Given the description of an element on the screen output the (x, y) to click on. 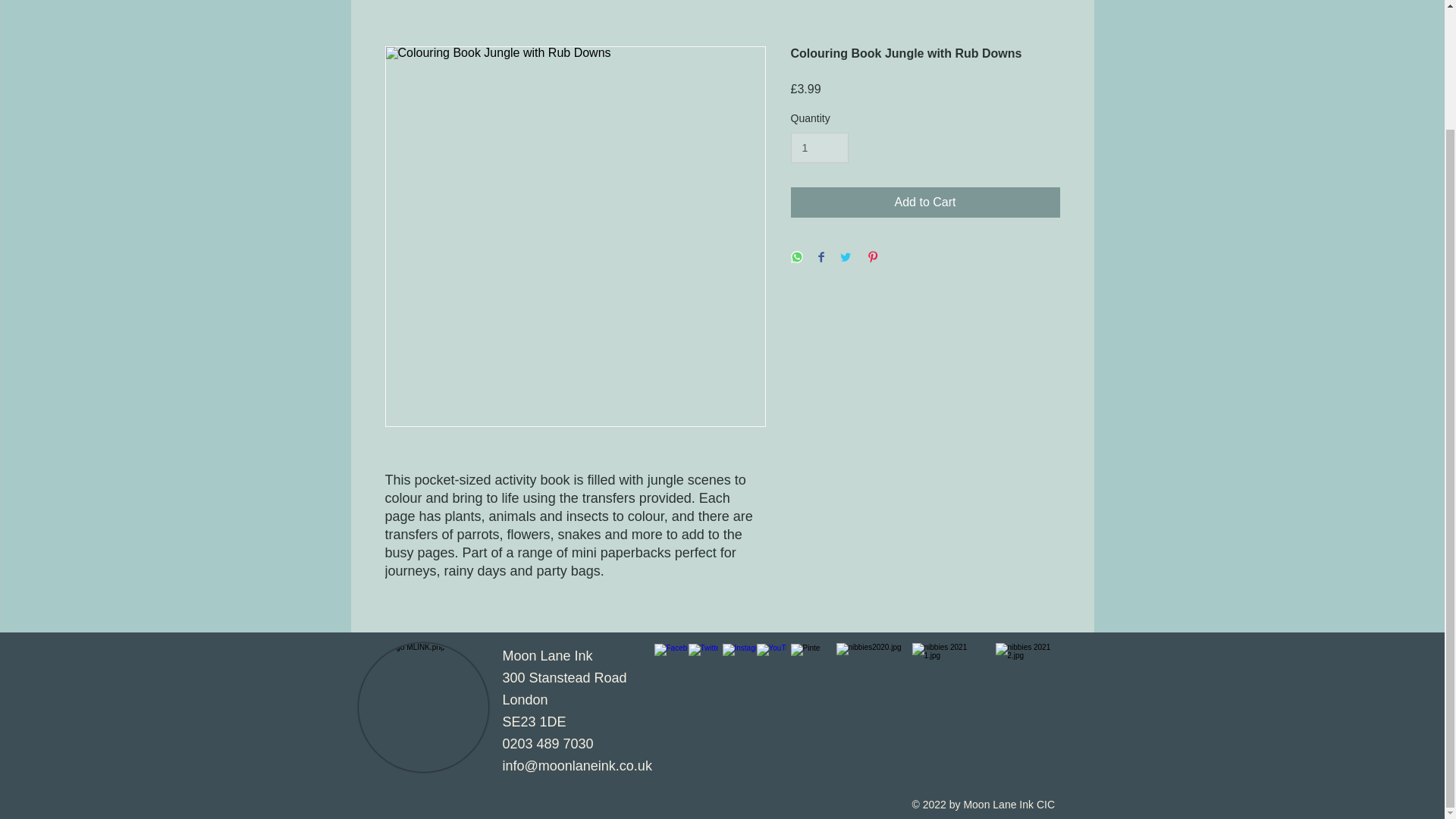
Add to Cart (924, 202)
1 (818, 147)
